Given the description of an element on the screen output the (x, y) to click on. 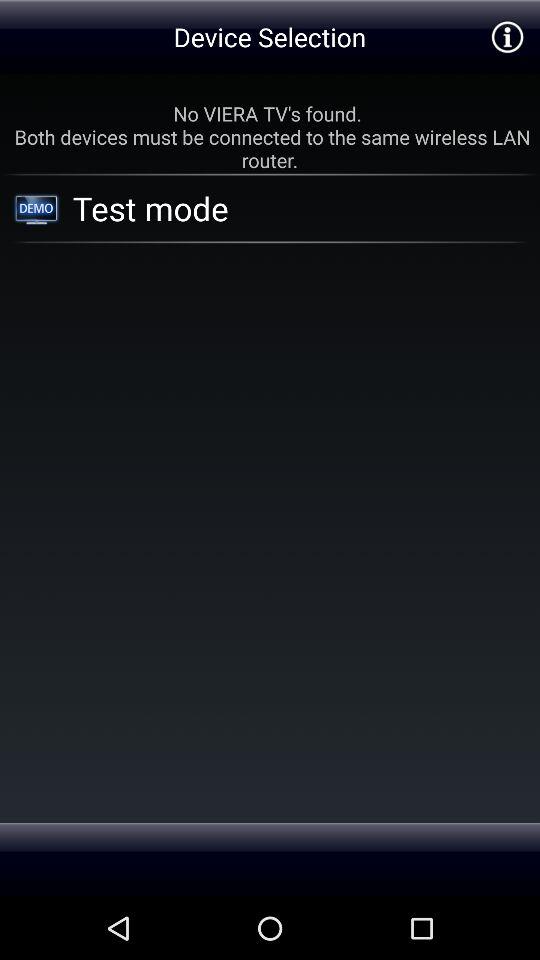
choose the item at the top right corner (506, 36)
